Given the description of an element on the screen output the (x, y) to click on. 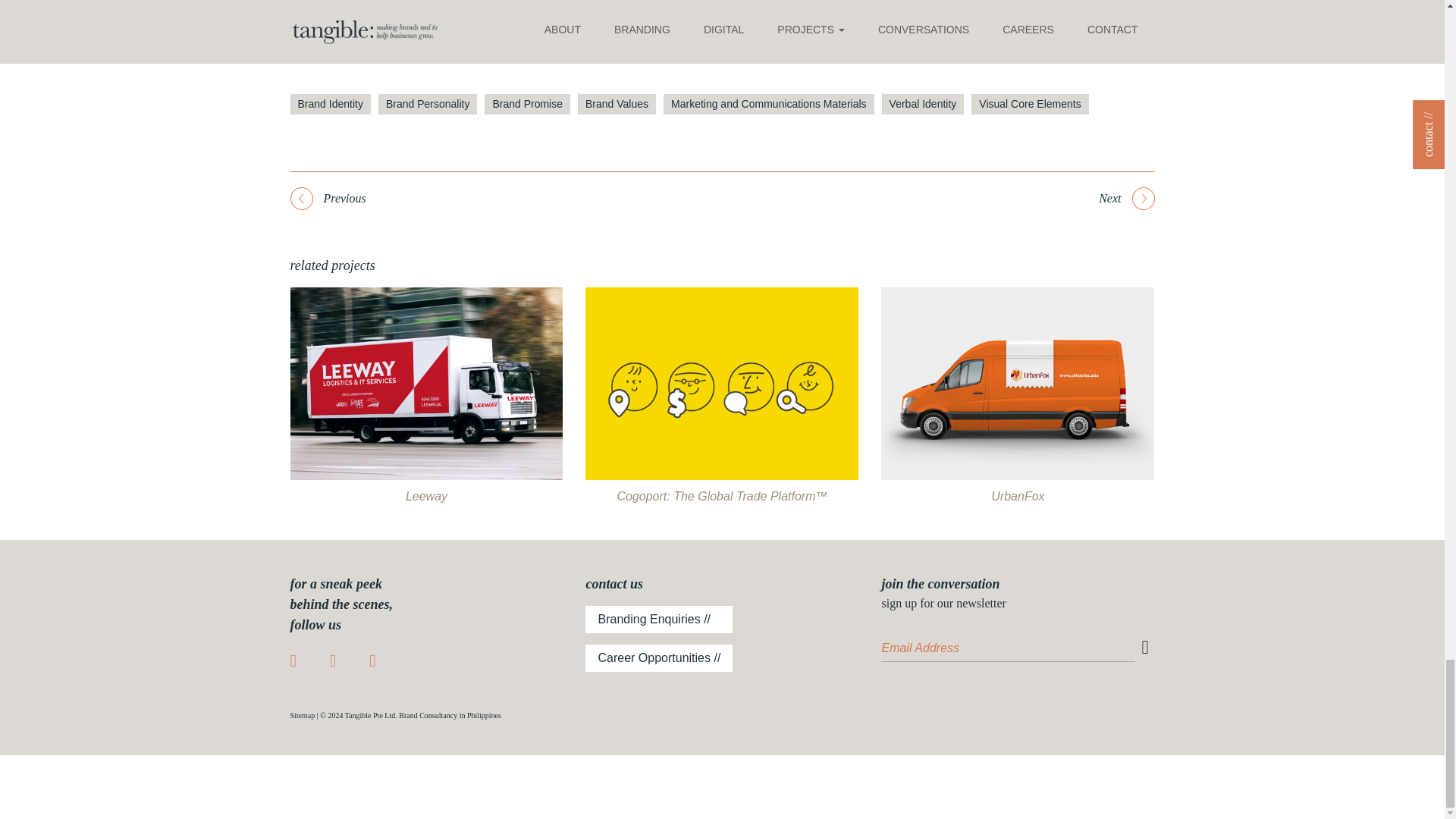
Brand Personality (427, 104)
Brand Values (617, 104)
UrbanFox (1017, 495)
Sitemap (301, 715)
Verbal Identity (922, 104)
2GO (330, 25)
Marketing and Communications Materials (769, 104)
Brand Promise (527, 104)
Next (1126, 198)
Brand Identity (329, 104)
Previous (327, 198)
Leeway (425, 499)
Visual Core Elements (1029, 104)
